Given the description of an element on the screen output the (x, y) to click on. 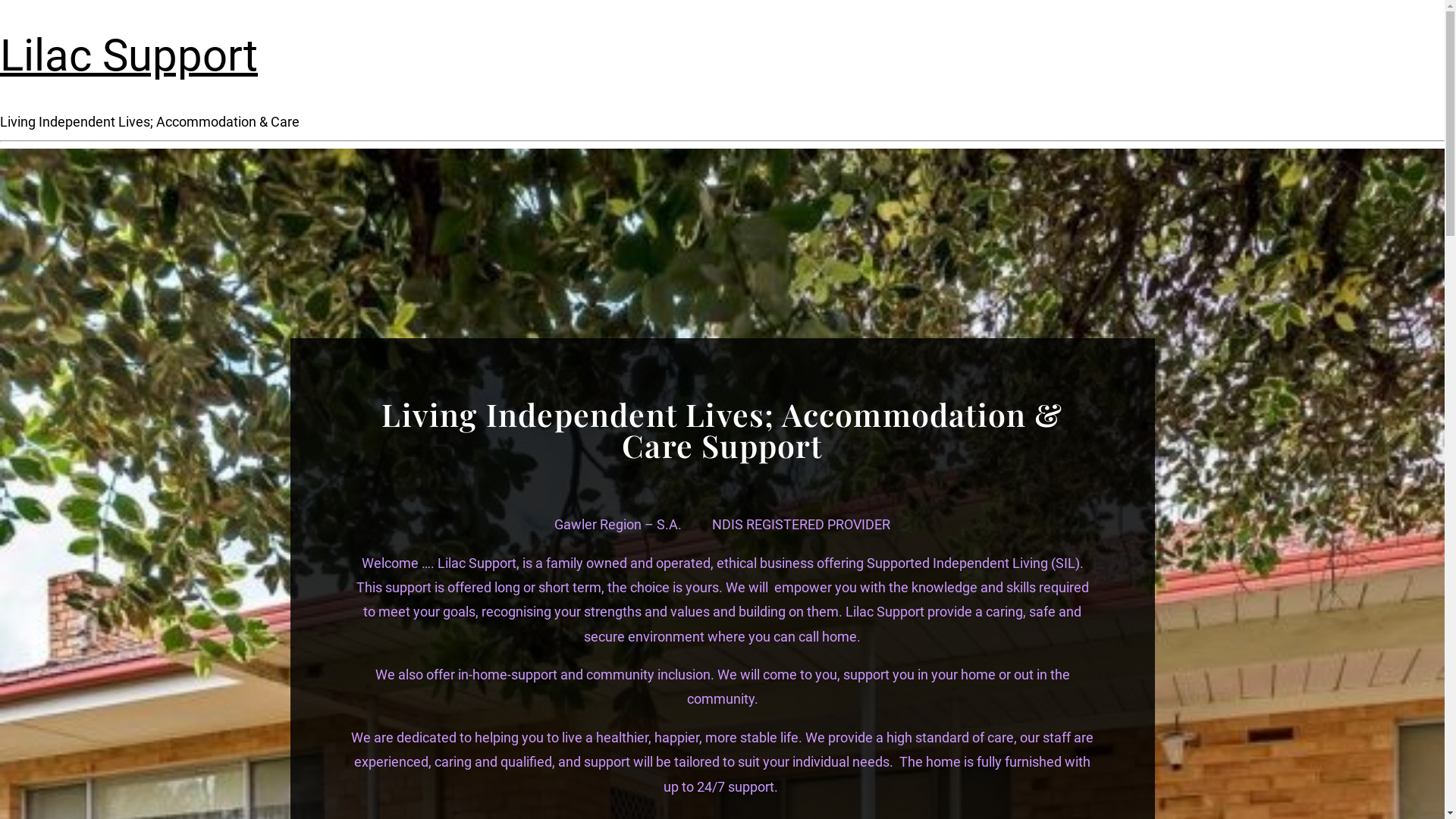
Lilac Support Element type: text (128, 55)
